Given the description of an element on the screen output the (x, y) to click on. 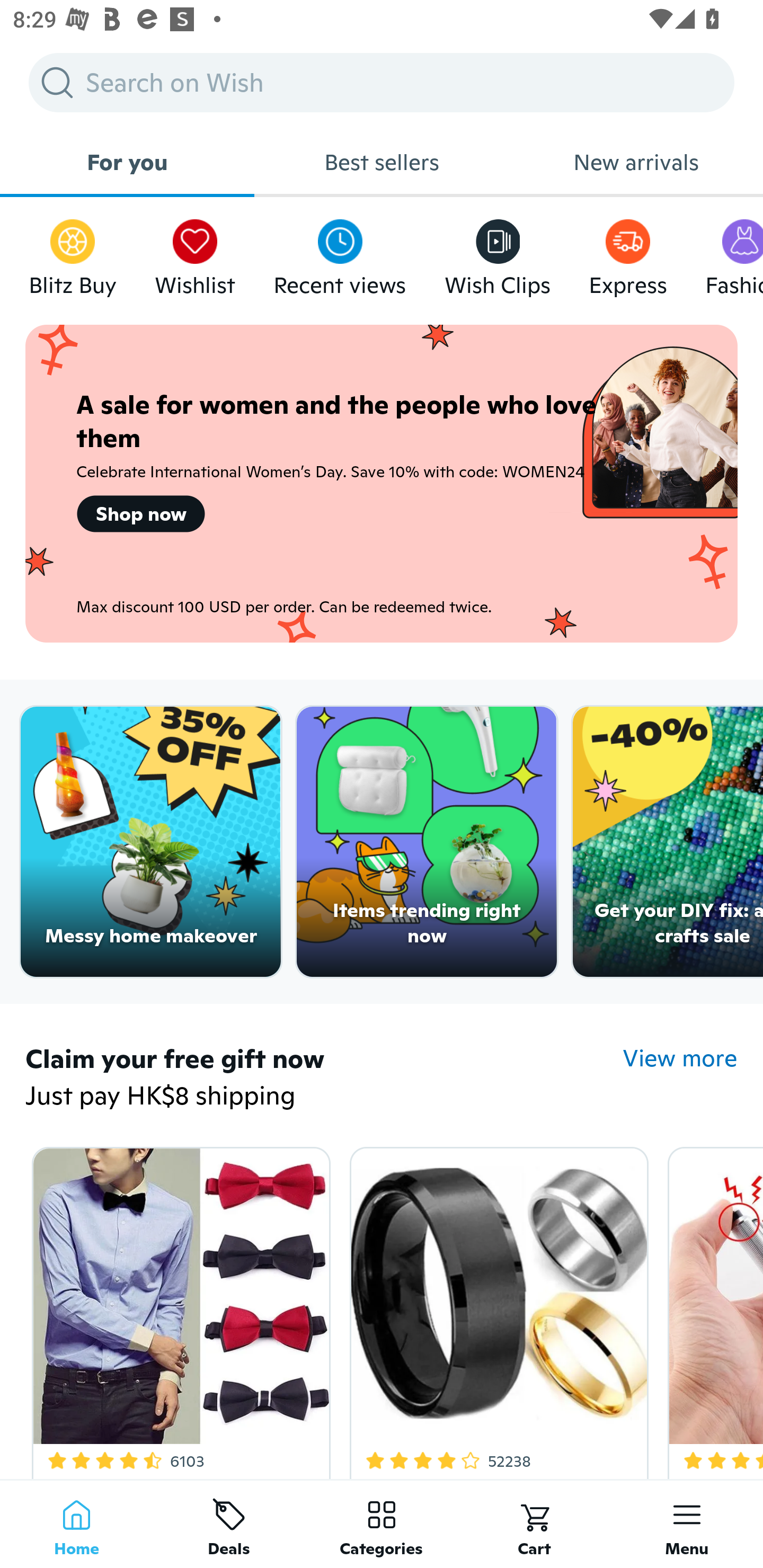
Search on Wish (381, 82)
For you (127, 161)
Best sellers (381, 161)
New arrivals (635, 161)
Blitz Buy (72, 252)
Wishlist (194, 252)
Recent views (339, 252)
Wish Clips (497, 252)
Express (627, 252)
Fashion (734, 252)
Messy home makeover (150, 841)
Items trending right now (426, 841)
Get your DIY fix: arts & crafts sale (668, 841)
Claim your free gift now
Just pay HK$8 shipping (323, 1078)
View more (679, 1058)
4.4 Star Rating 6103 Free (177, 1308)
4.2 Star Rating 52238 Free (495, 1308)
Home (76, 1523)
Deals (228, 1523)
Categories (381, 1523)
Cart (533, 1523)
Menu (686, 1523)
